Given the description of an element on the screen output the (x, y) to click on. 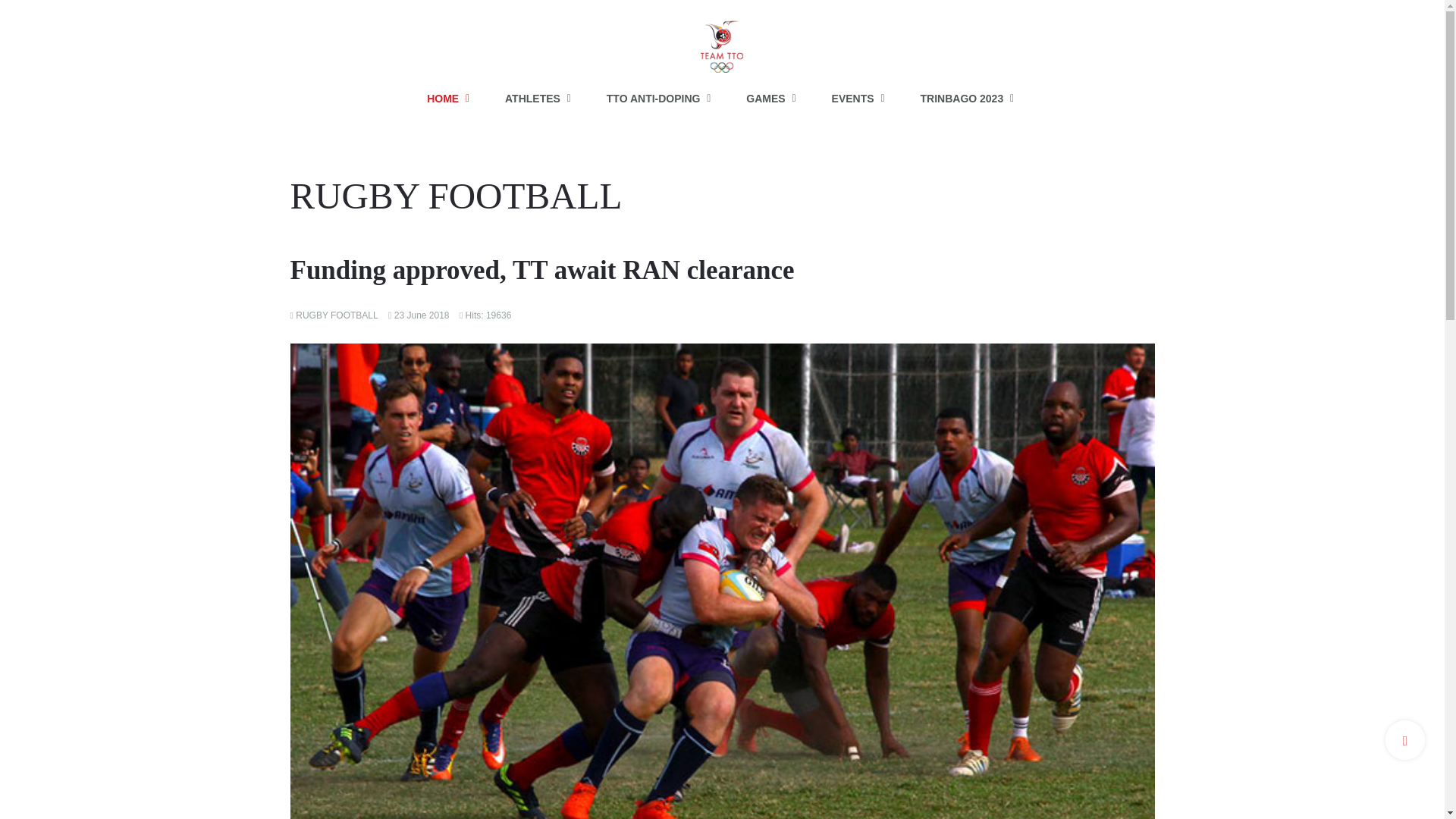
Team TTO (721, 38)
Category:  (333, 315)
Funding approved, TT await RAN clearance (541, 270)
Published:  (418, 315)
Back to Top (1405, 740)
